Given the description of an element on the screen output the (x, y) to click on. 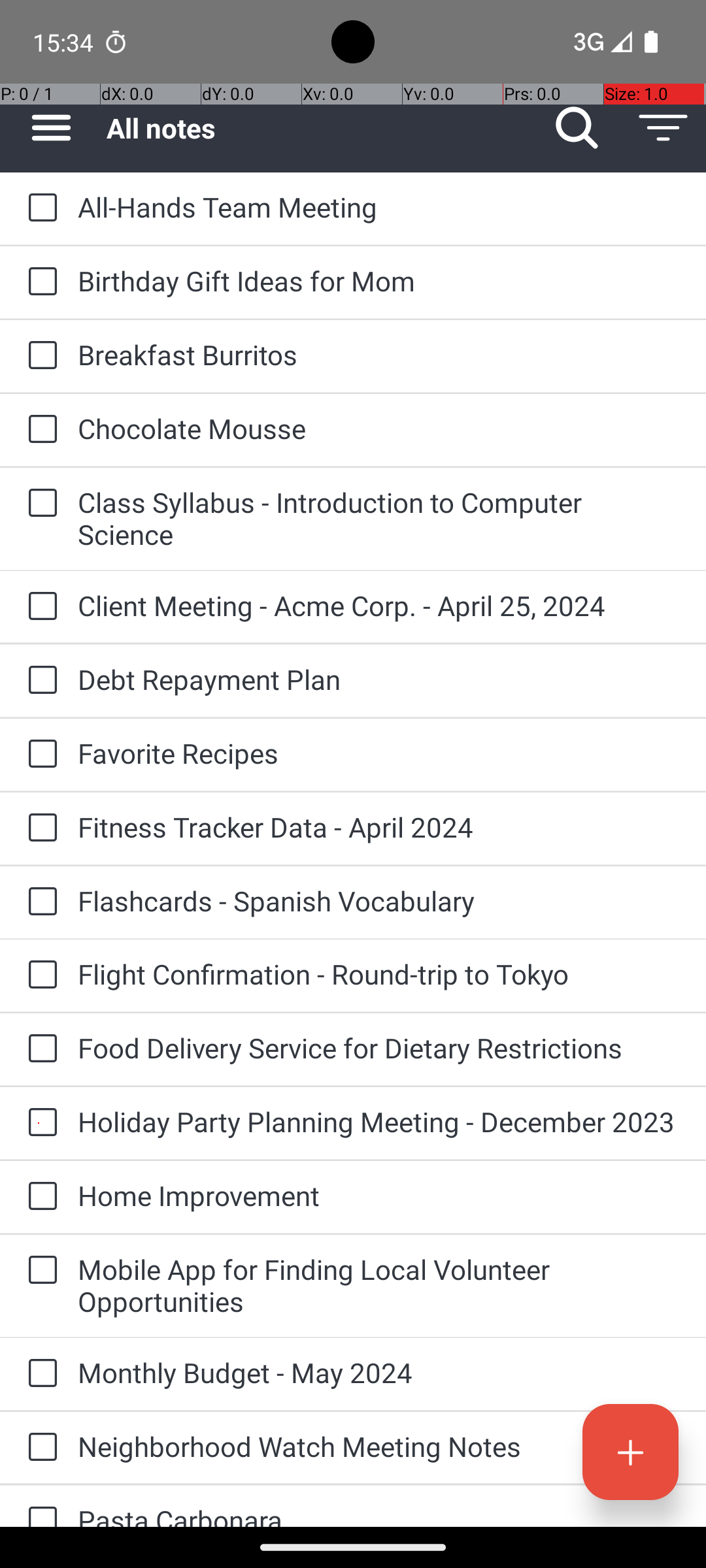
to-do: Birthday Gift Ideas for Mom Element type: android.widget.CheckBox (38, 282)
to-do: Breakfast Burritos Element type: android.widget.CheckBox (38, 356)
Breakfast Burritos Element type: android.widget.TextView (378, 354)
to-do: Chocolate Mousse Element type: android.widget.CheckBox (38, 429)
Chocolate Mousse Element type: android.widget.TextView (378, 427)
to-do: Class Syllabus - Introduction to Computer Science Element type: android.widget.CheckBox (38, 503)
Class Syllabus - Introduction to Computer Science Element type: android.widget.TextView (378, 517)
to-do: Debt Repayment Plan Element type: android.widget.CheckBox (38, 680)
to-do: Favorite Recipes Element type: android.widget.CheckBox (38, 754)
Favorite Recipes Element type: android.widget.TextView (378, 752)
to-do: Flashcards - Spanish Vocabulary Element type: android.widget.CheckBox (38, 902)
Flashcards - Spanish Vocabulary Element type: android.widget.TextView (378, 900)
to-do: Holiday Party Planning Meeting - December 2023 Element type: android.widget.CheckBox (38, 1123)
Holiday Party Planning Meeting - December 2023 Element type: android.widget.TextView (378, 1121)
to-do: Home Improvement Element type: android.widget.CheckBox (38, 1196)
Home Improvement Element type: android.widget.TextView (378, 1194)
to-do: Monthly Budget - May 2024 Element type: android.widget.CheckBox (38, 1373)
Monthly Budget - May 2024 Element type: android.widget.TextView (378, 1371)
to-do: Neighborhood Watch Meeting Notes Element type: android.widget.CheckBox (38, 1447)
Neighborhood Watch Meeting Notes Element type: android.widget.TextView (378, 1445)
to-do: Pasta Carbonara Element type: android.widget.CheckBox (38, 1505)
Pasta Carbonara Element type: android.widget.TextView (378, 1513)
